Given the description of an element on the screen output the (x, y) to click on. 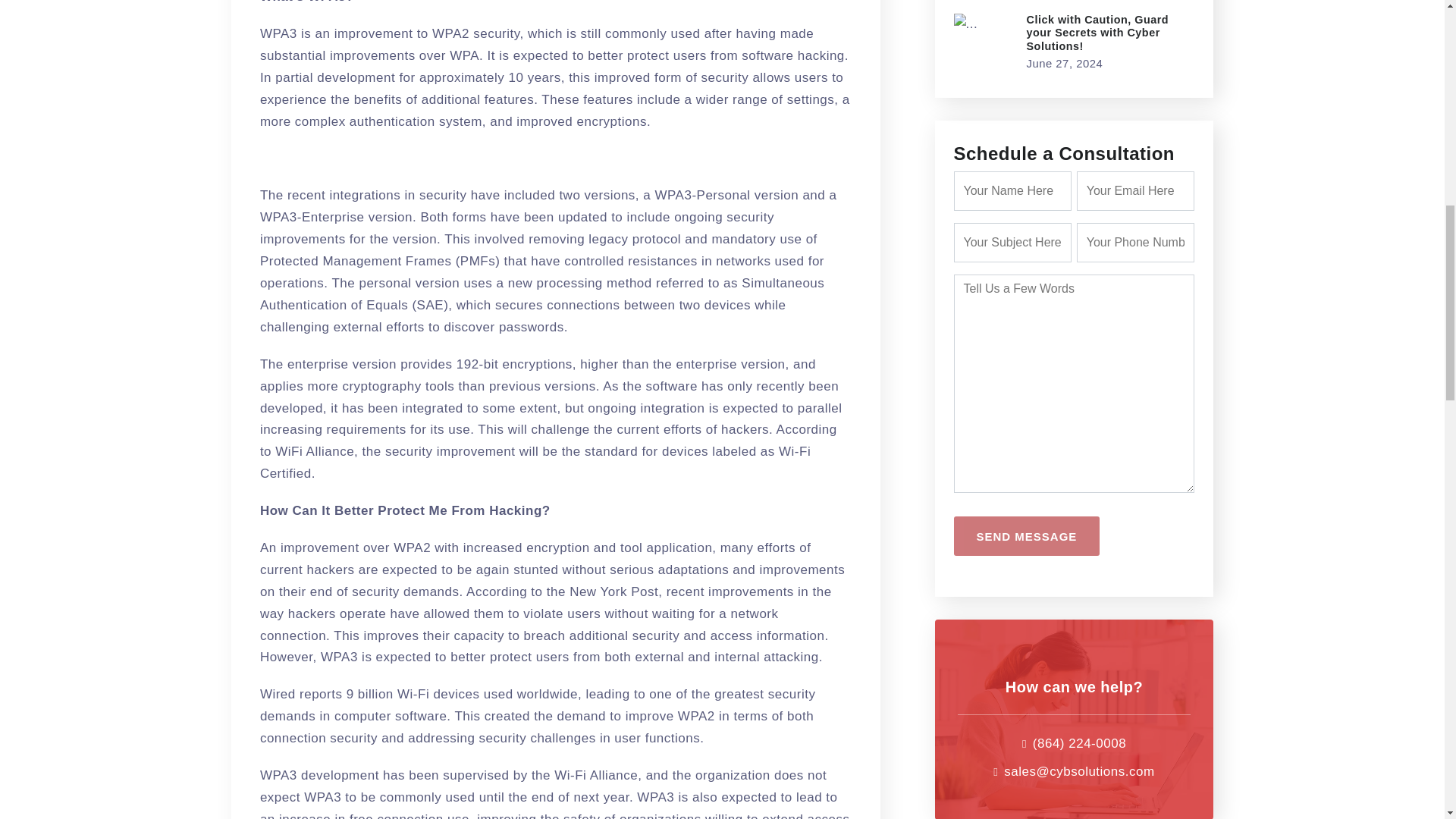
Send Message (1026, 536)
WiFi Alliance (314, 451)
Wired (277, 694)
New York Post (613, 591)
